Given the description of an element on the screen output the (x, y) to click on. 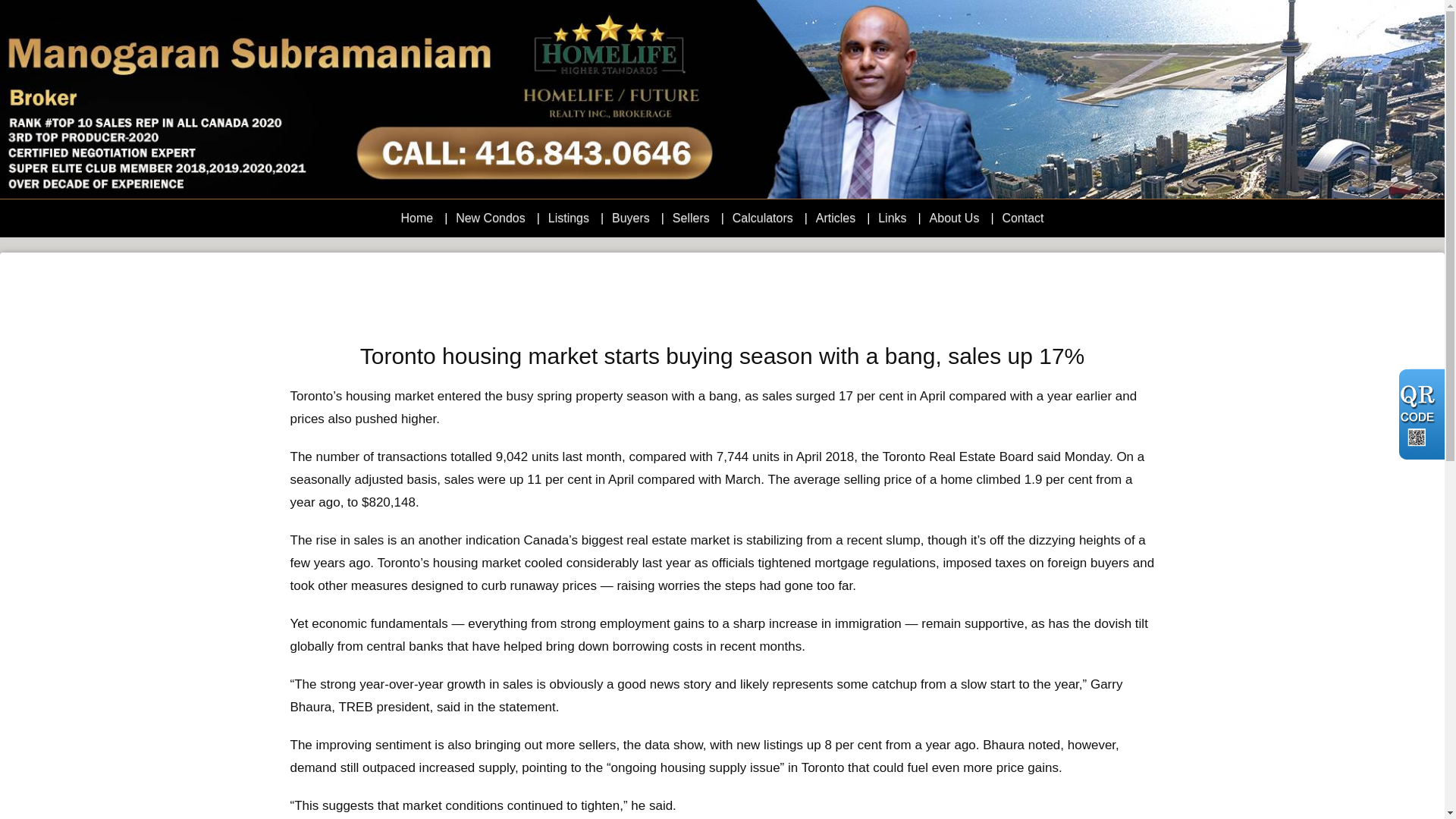
Contact (1022, 218)
About Us (954, 218)
Links (891, 218)
Listings (568, 218)
New Condos (490, 218)
Calculators (762, 218)
Articles (835, 218)
Home (416, 218)
Sellers (690, 218)
Buyers (630, 218)
